Given the description of an element on the screen output the (x, y) to click on. 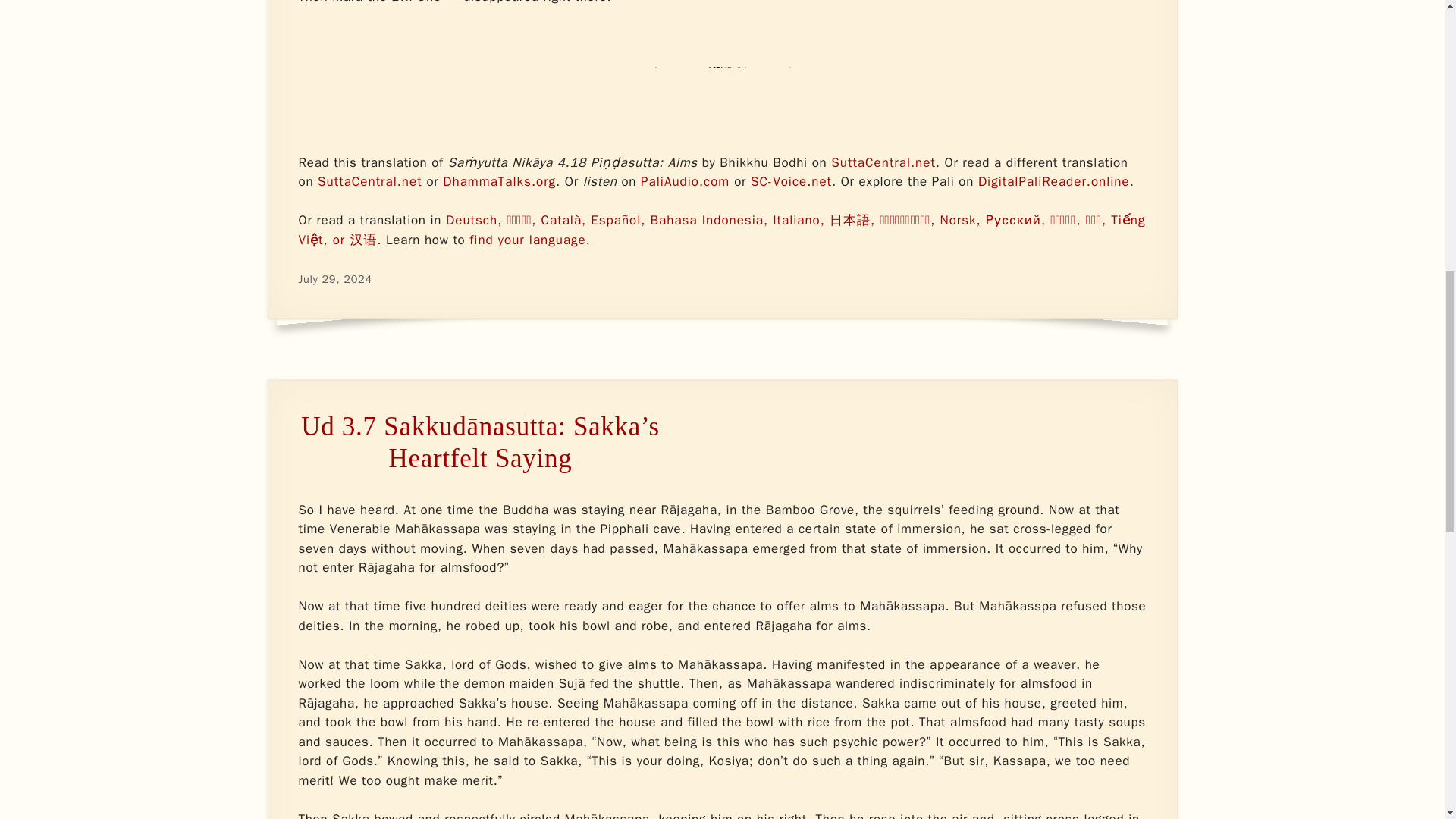
SC-Voice.net (791, 181)
DhammaTalks.org (499, 181)
find your language. (529, 239)
PaliAudio.com (684, 181)
SuttaCentral.net (369, 181)
Scroll back to top (1406, 720)
DigitalPaliReader.online (1053, 181)
SuttaCentral.net (883, 162)
